Given the description of an element on the screen output the (x, y) to click on. 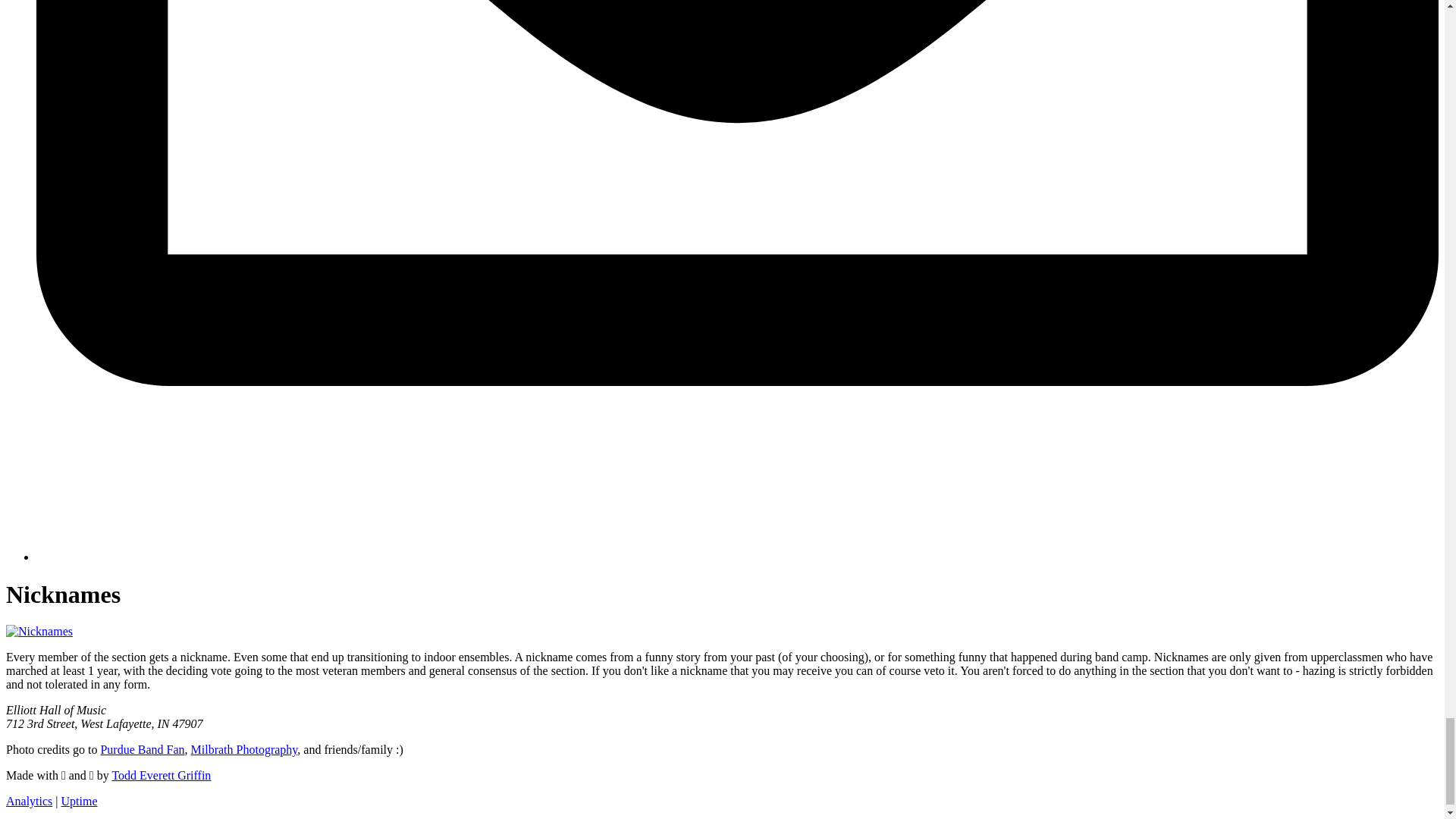
Milbrath Photography (244, 748)
Uptime (79, 800)
Todd Everett Griffin (161, 775)
Analytics (28, 800)
Purdue Band Fan (142, 748)
